Given the description of an element on the screen output the (x, y) to click on. 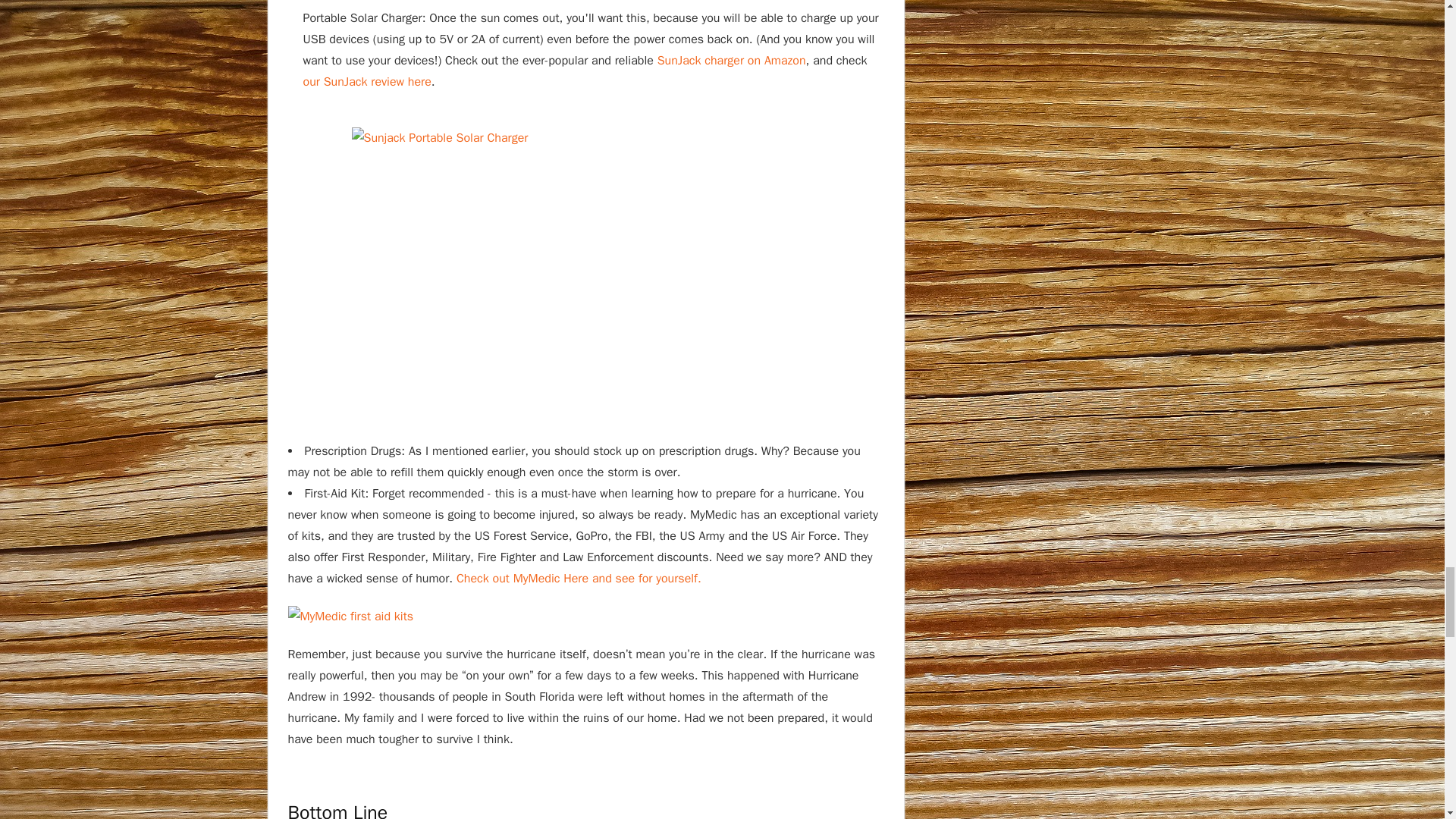
Check out MyMedic Here and see for yourself. (579, 578)
our SunJack review here (366, 81)
SunJack charger on Amazon (732, 60)
